Given the description of an element on the screen output the (x, y) to click on. 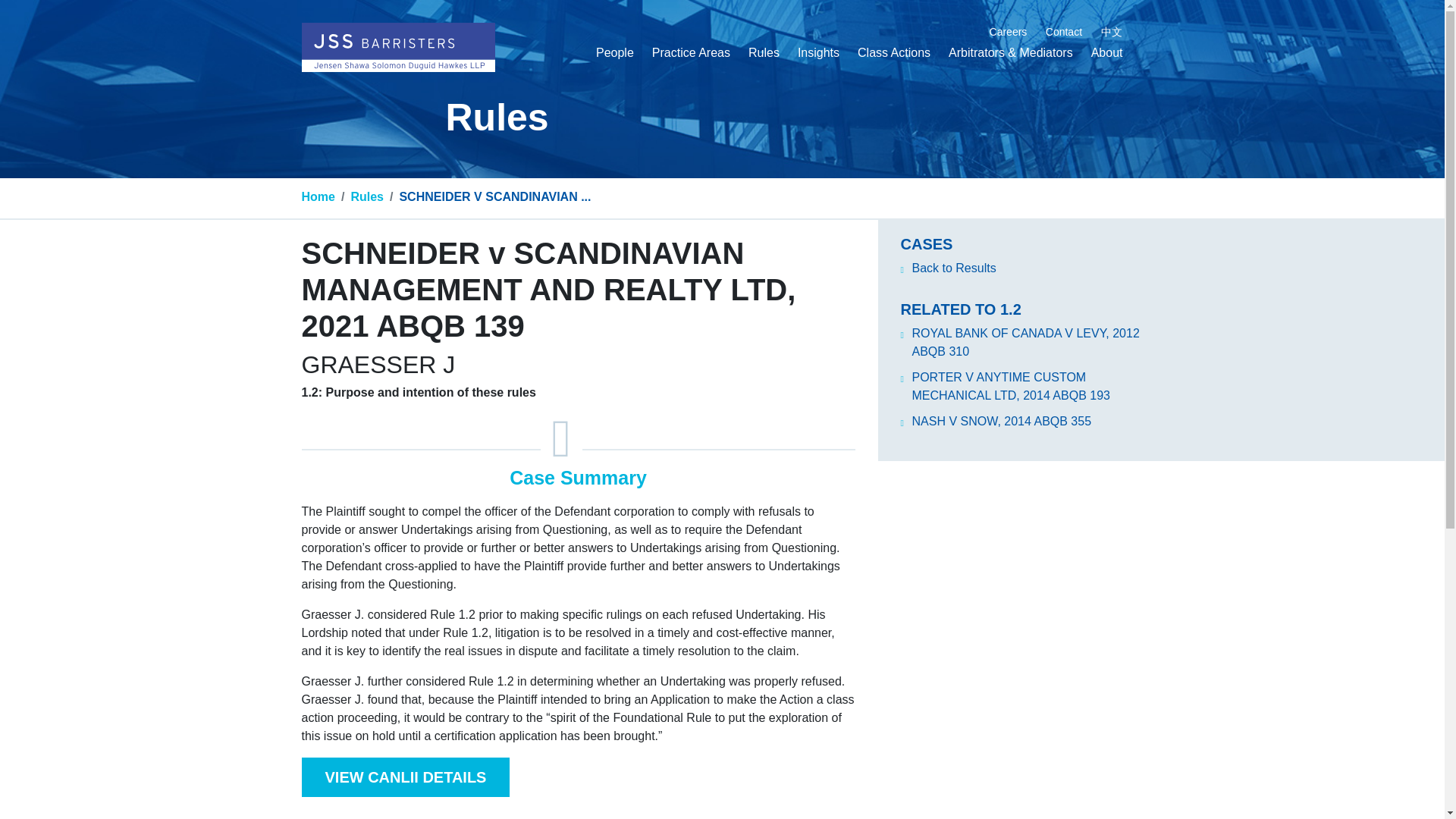
People (614, 54)
Careers (1008, 32)
Contact (1063, 32)
